Given the description of an element on the screen output the (x, y) to click on. 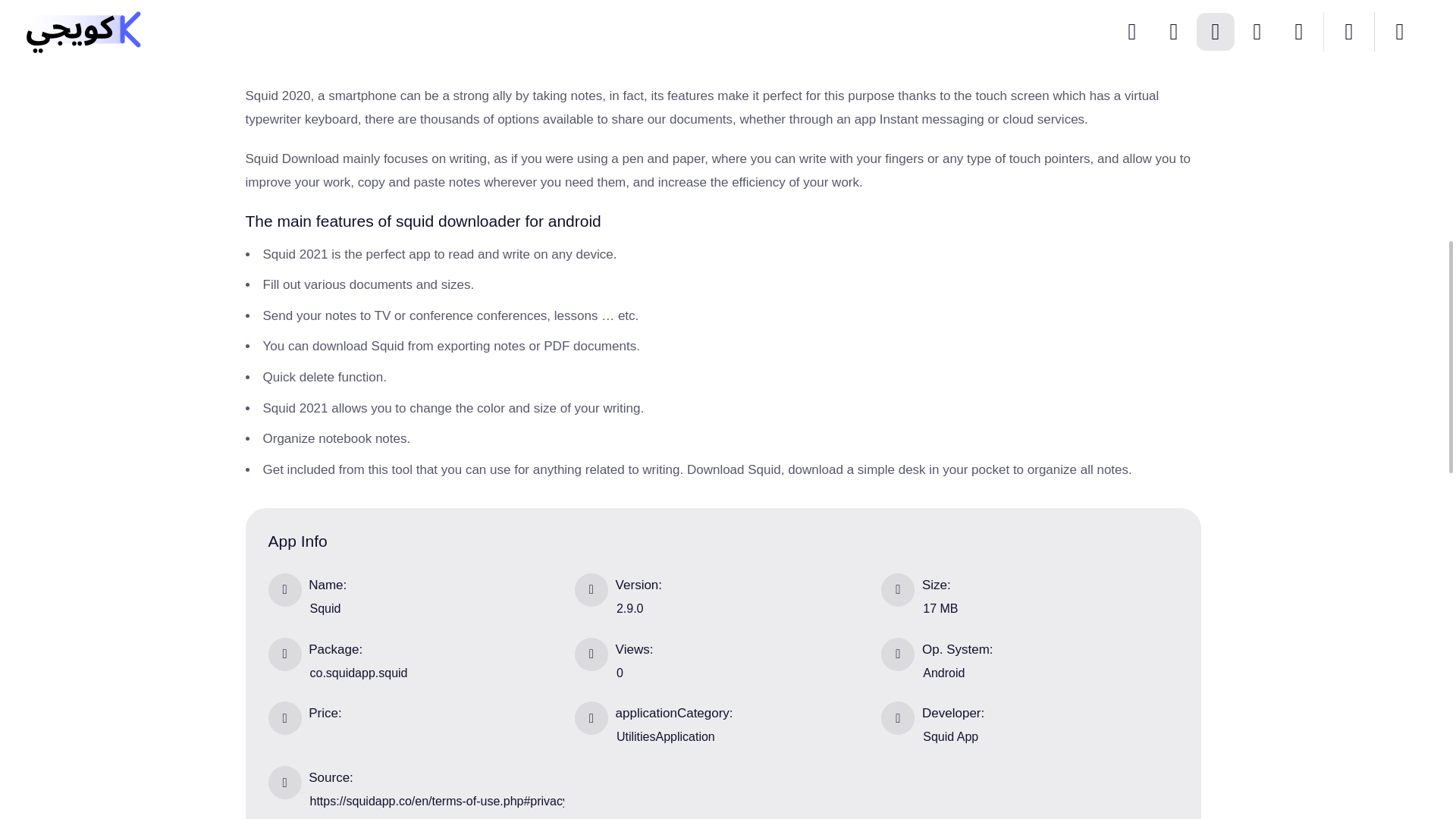
Advertisement (359, 25)
